Given the description of an element on the screen output the (x, y) to click on. 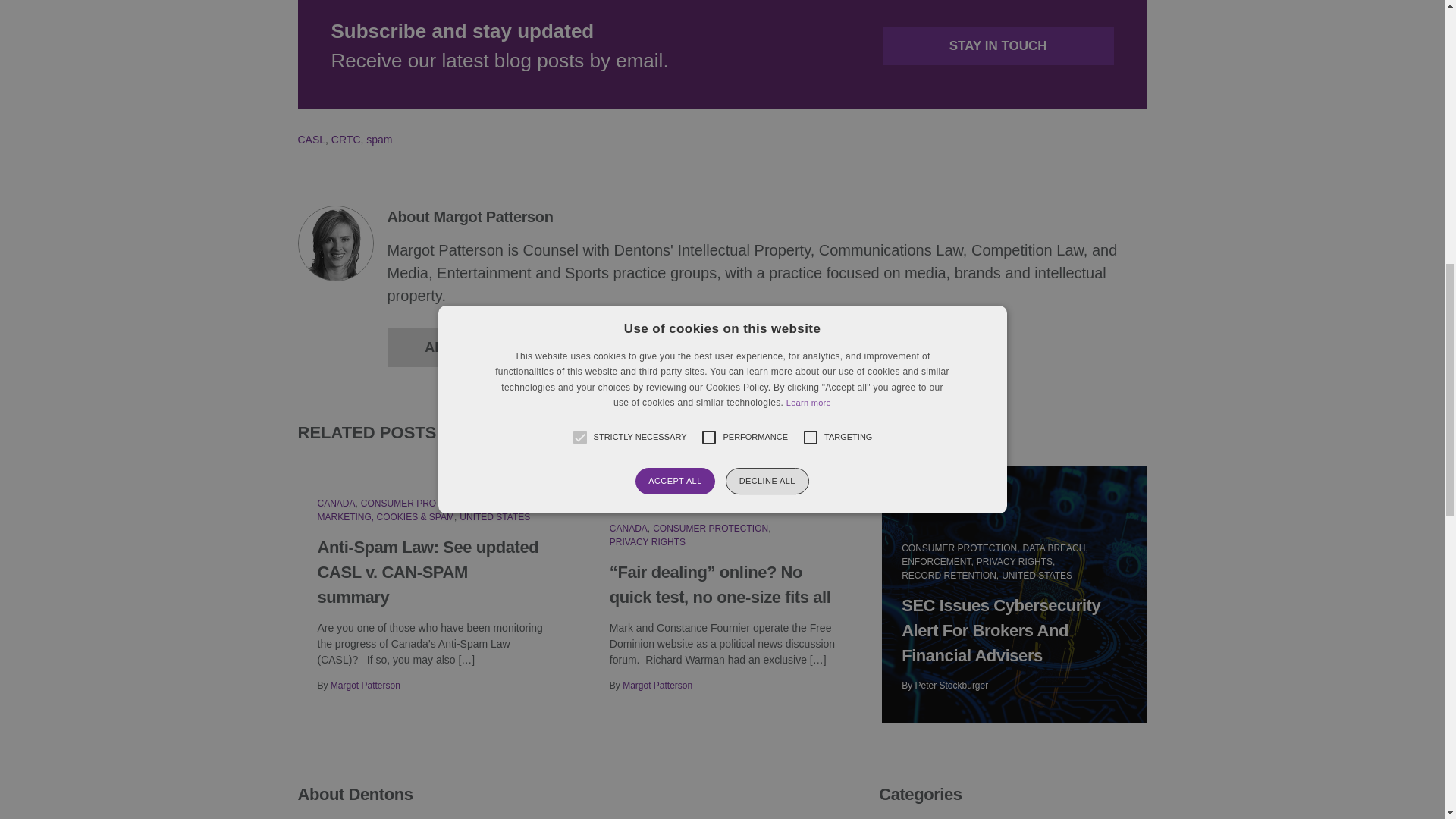
ALL POSTS (462, 347)
CANADA (336, 502)
CONSUMER PROTECTION (710, 528)
STAY IN TOUCH (997, 46)
FULL BIO (624, 347)
Margot Patterson (365, 685)
Margot Patterson (658, 685)
CANADA (628, 528)
UNITED STATES (494, 516)
CASL (310, 139)
CRTC (346, 139)
spam (378, 139)
CONSUMER PROTECTION (418, 502)
PRIVACY RIGHTS (647, 542)
Anti-Spam Law: See updated CASL v. CAN-SPAM summary (427, 571)
